Given the description of an element on the screen output the (x, y) to click on. 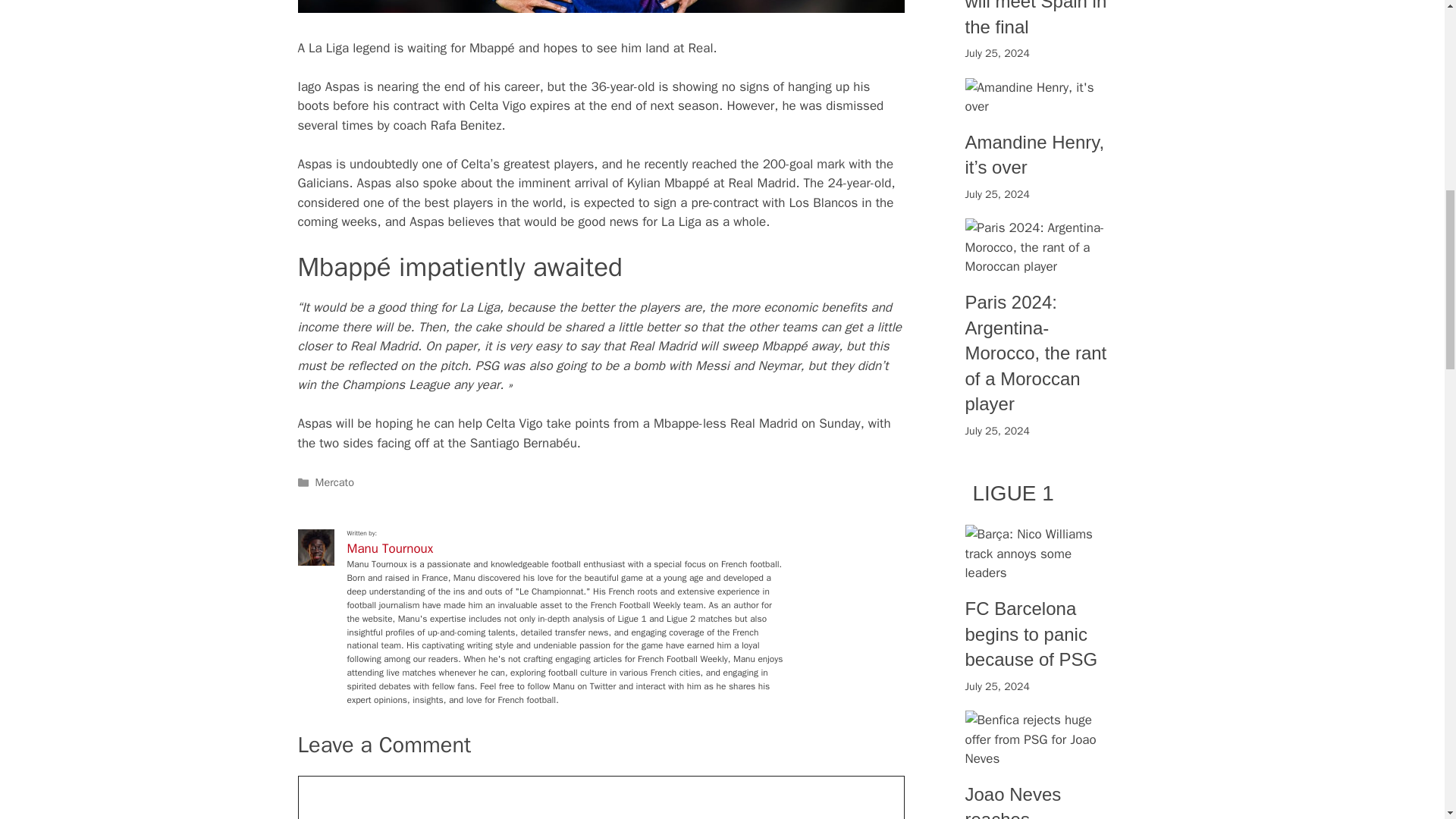
Scroll back to top (1406, 720)
